Given the description of an element on the screen output the (x, y) to click on. 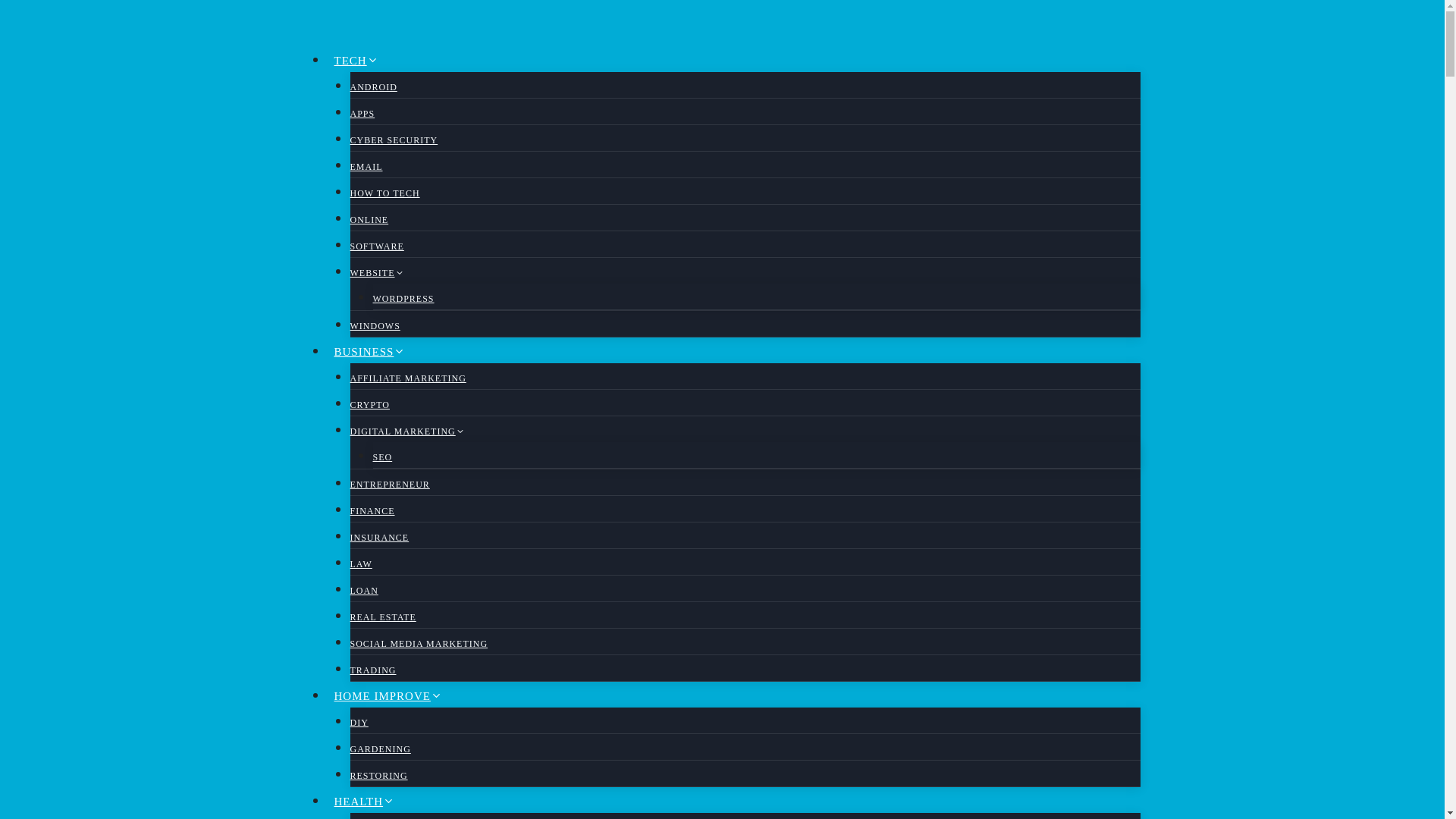
CRYPTO (370, 404)
DIGITAL MARKETING (407, 430)
HEALTH (364, 801)
LOAN (364, 590)
CBD (360, 816)
ENTREPRENEUR (389, 484)
HOW TO TECH (385, 193)
BUSINESS (369, 351)
FINANCE (372, 510)
RESTORING (378, 775)
WINDOWS (375, 326)
EMAIL (366, 166)
HOME IMPROVE (387, 696)
SOFTWARE (377, 246)
TECH (356, 60)
